Given the description of an element on the screen output the (x, y) to click on. 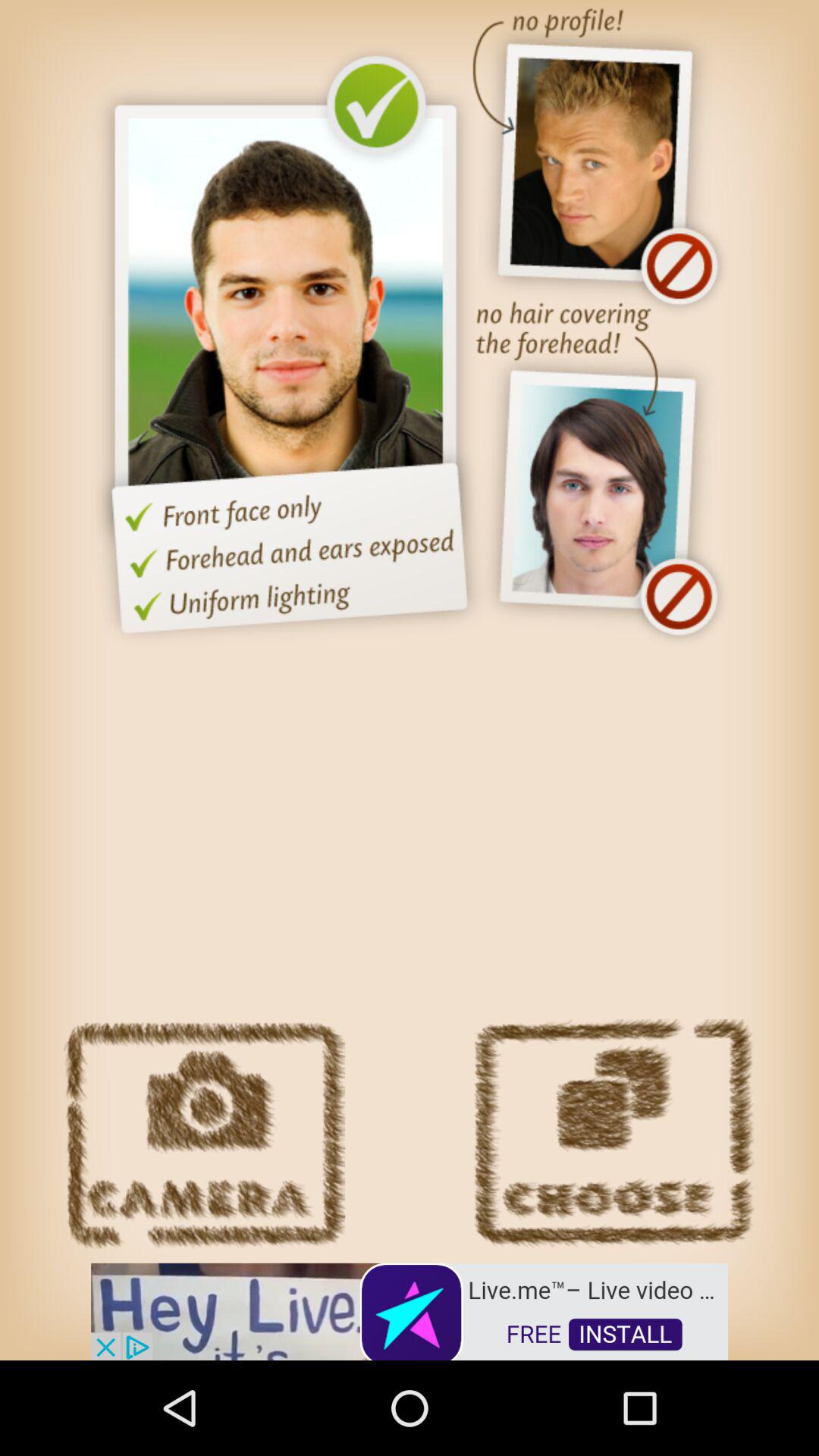
select choose photo (613, 1133)
